Given the description of an element on the screen output the (x, y) to click on. 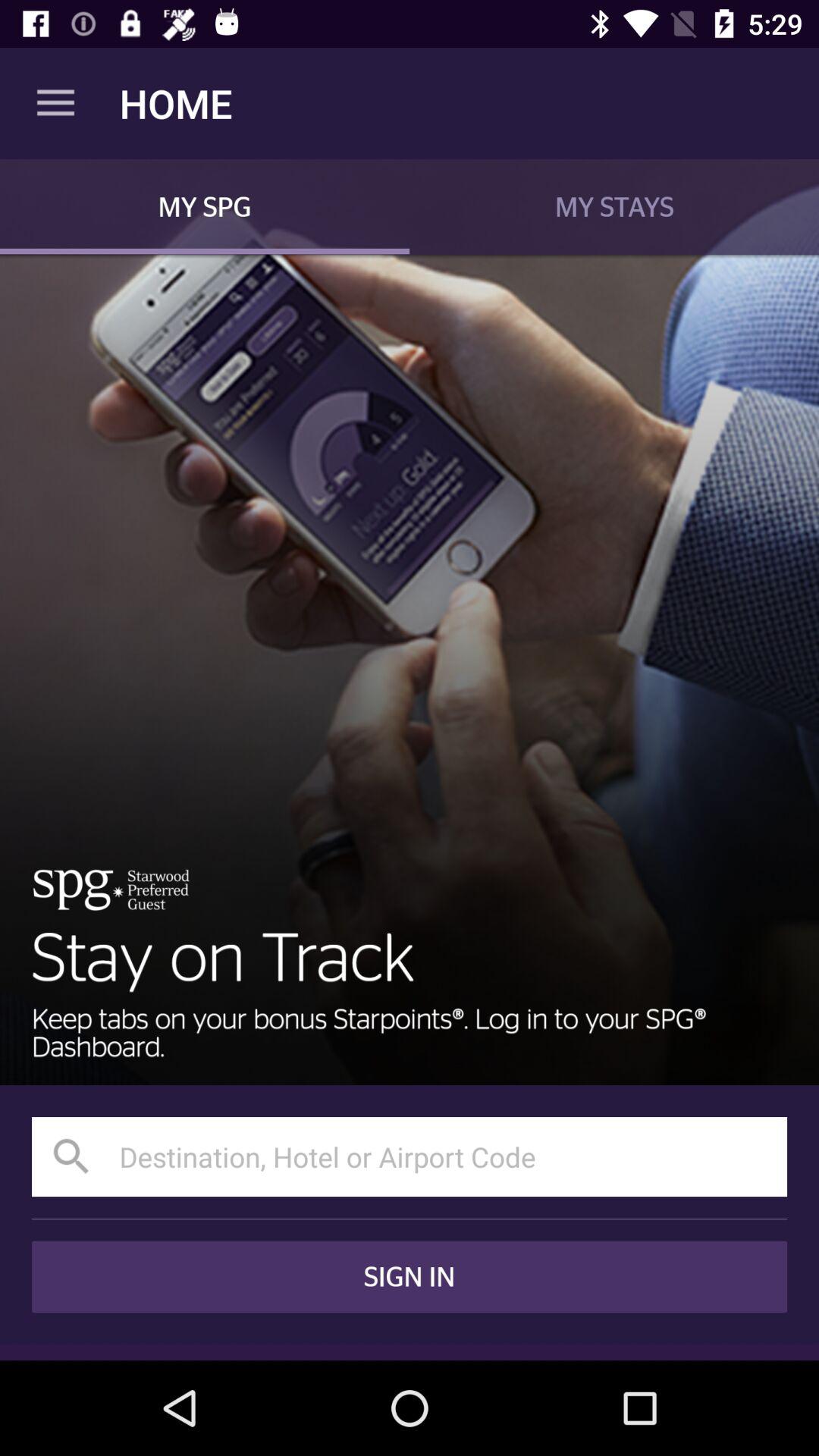
press the item next to my spg app (614, 206)
